Given the description of an element on the screen output the (x, y) to click on. 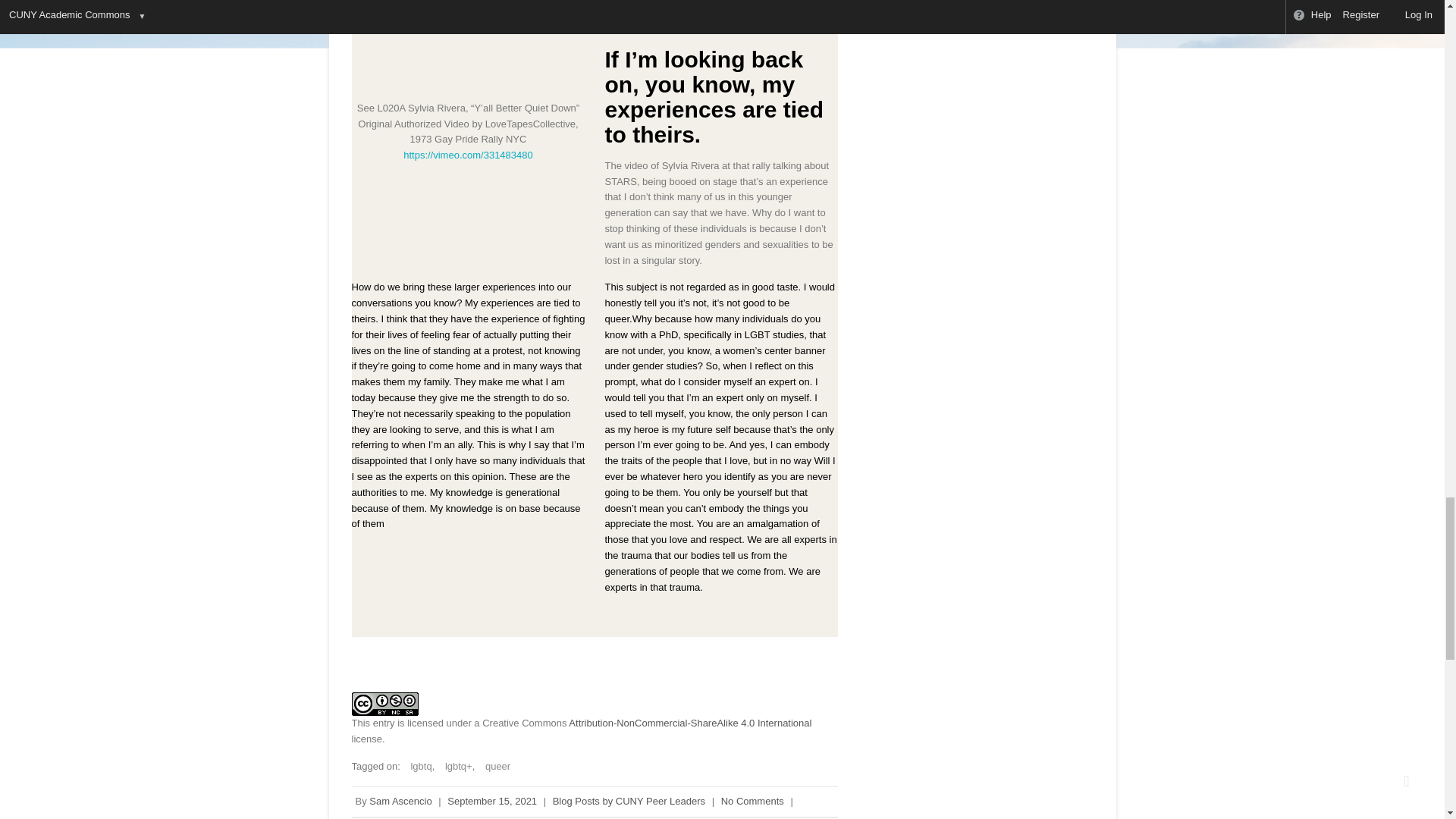
Sam Ascencio (399, 799)
Share on Twitter (407, 659)
queer (494, 766)
Share on Linkedin (446, 659)
No Comments (752, 799)
lgbtq (416, 766)
September 15, 2021 (491, 799)
Share on Facebook (368, 659)
Blog Posts by CUNY Peer Leaders (628, 799)
Attribution-NonCommercial-ShareAlike 4.0 International (689, 722)
5:34 am (491, 799)
